Given the description of an element on the screen output the (x, y) to click on. 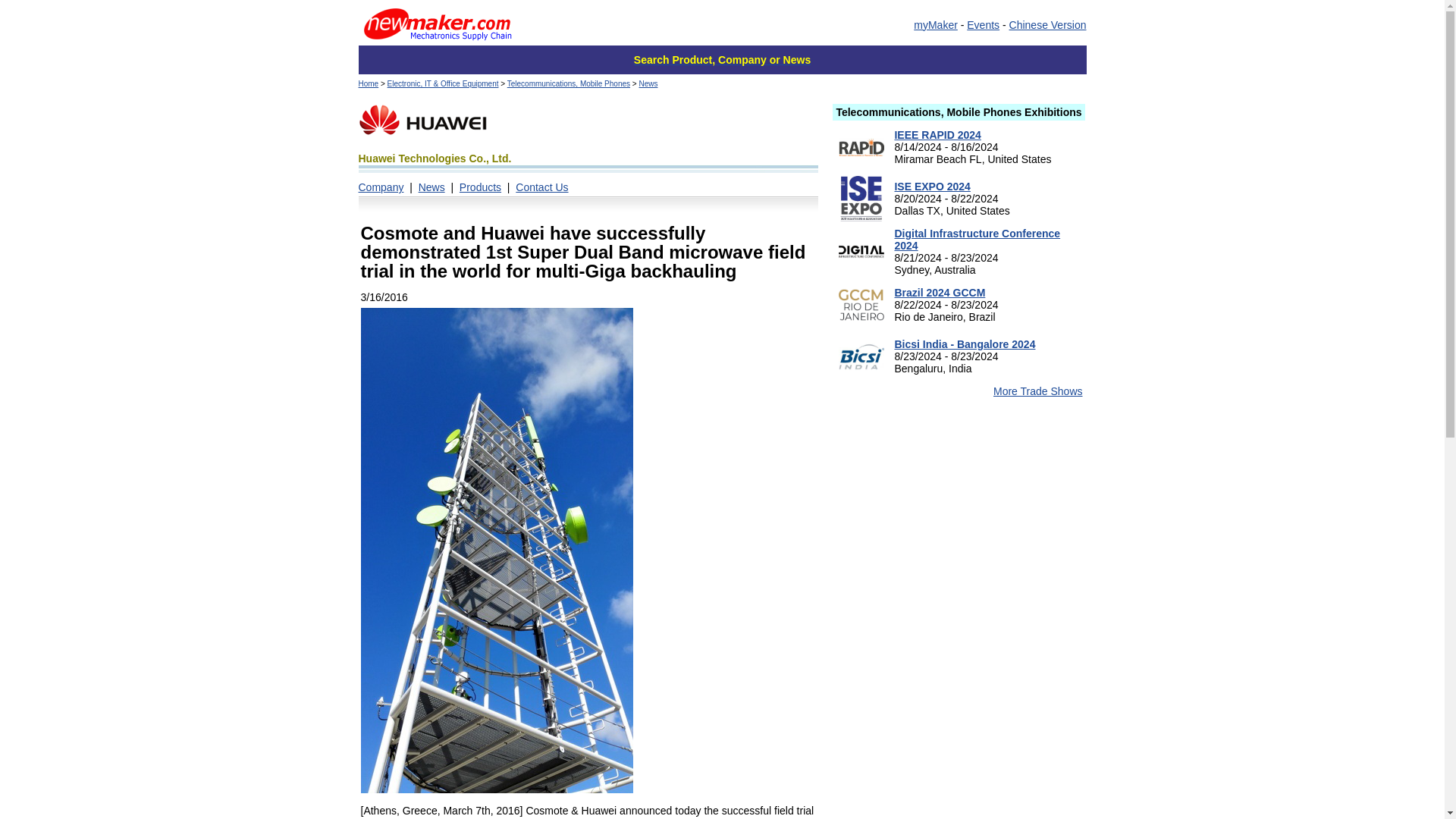
Bicsi India - Bangalore 2024 (964, 344)
Search Product, Company or News (721, 60)
Company (380, 186)
ISE EXPO 2024 (931, 186)
myMaker (936, 24)
Contact Us (541, 186)
News (648, 83)
More Trade Shows (1037, 390)
Products (480, 186)
Advertisement (958, 733)
